Given the description of an element on the screen output the (x, y) to click on. 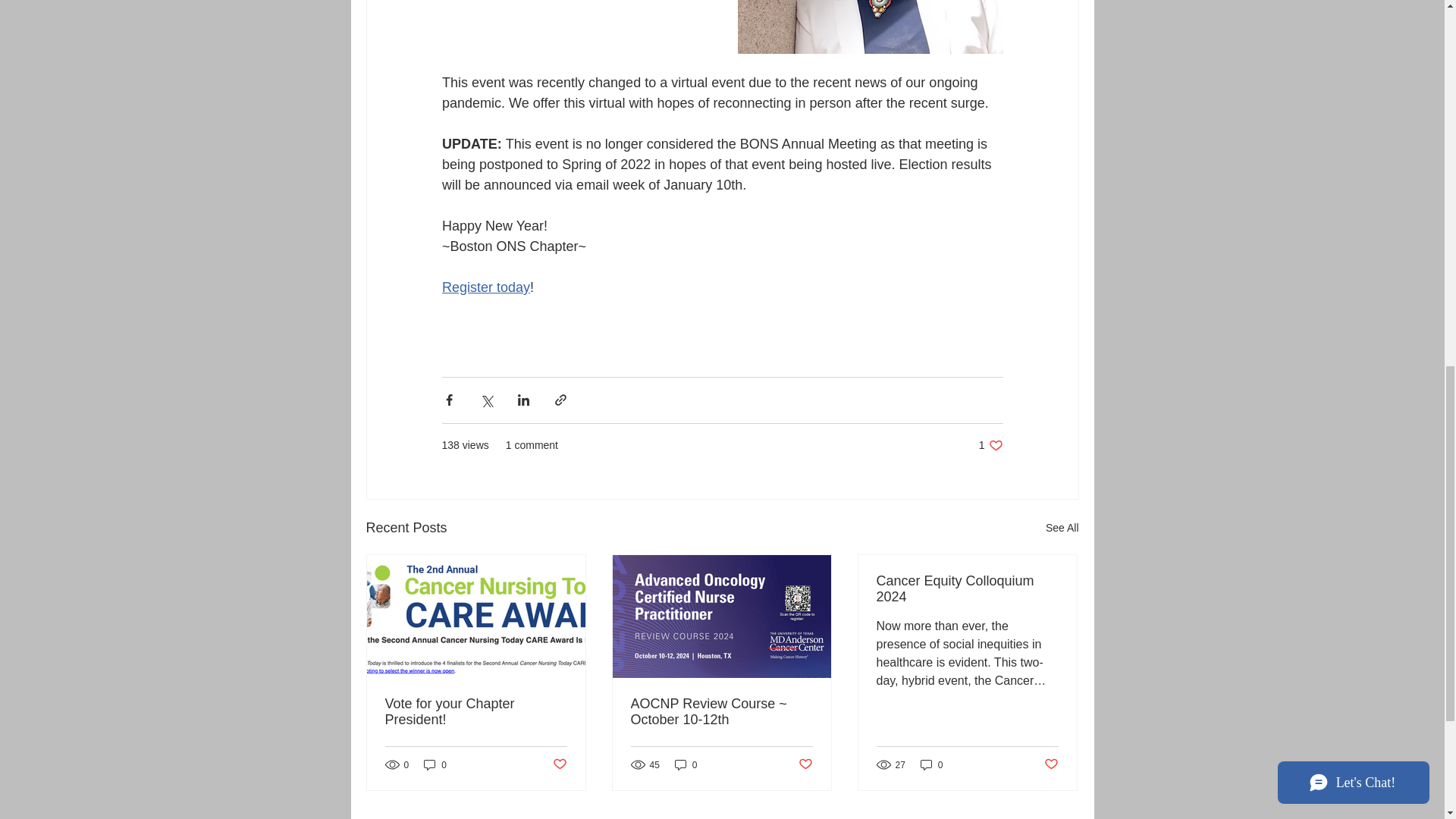
0 (990, 445)
0 (435, 764)
Register today (685, 764)
Post not marked as liked (485, 287)
See All (558, 764)
Vote for your Chapter President! (1061, 527)
Post not marked as liked (476, 712)
